Given the description of an element on the screen output the (x, y) to click on. 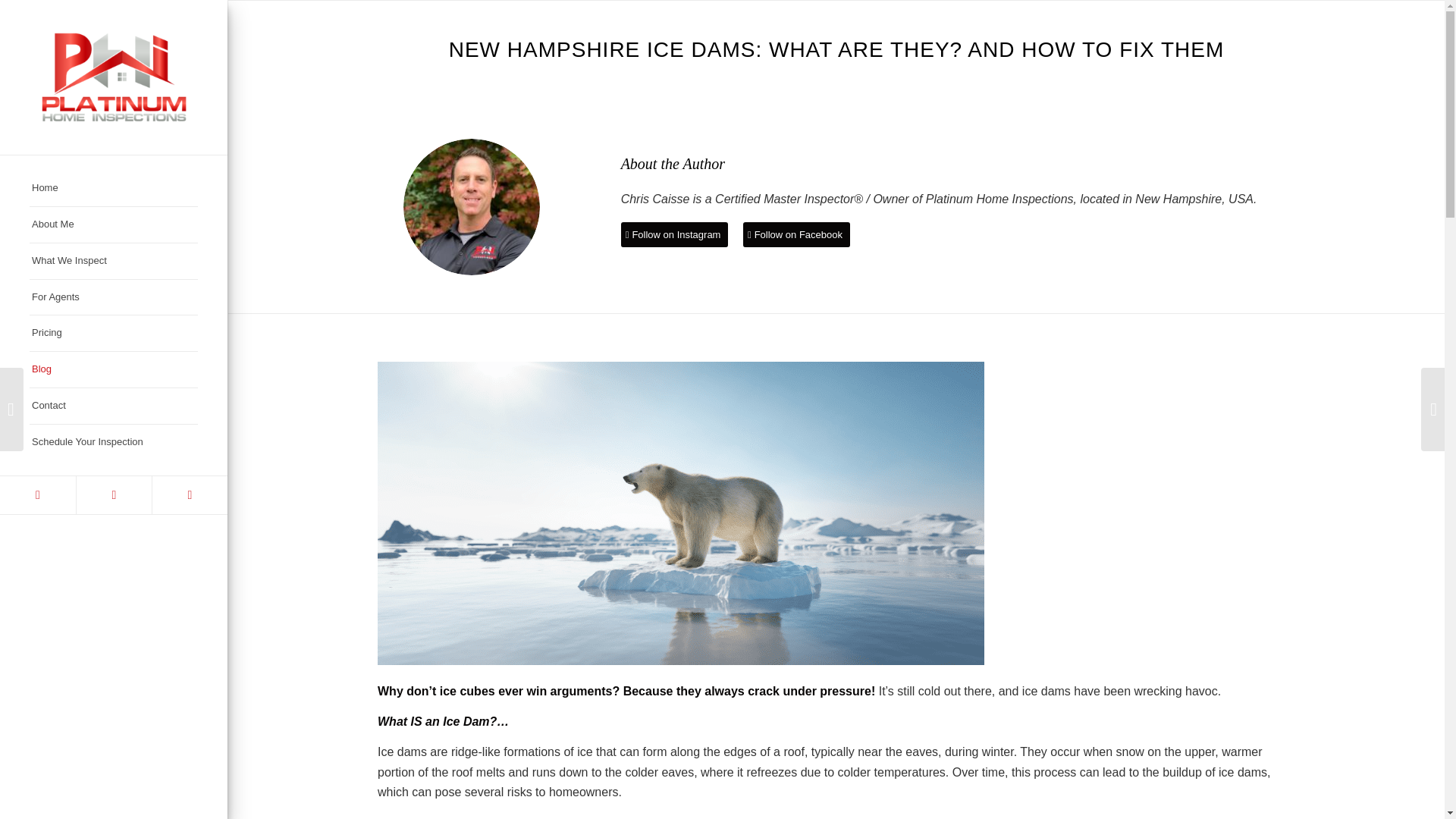
For Agents (113, 298)
Contact (113, 406)
Pricing (113, 333)
Chris HS - Square (471, 206)
Schedule Your Inspection (113, 442)
Instagram (189, 494)
Follow on Facebook (796, 234)
Youtube (113, 494)
What We Inspect (113, 261)
Blog (113, 370)
